Given the description of an element on the screen output the (x, y) to click on. 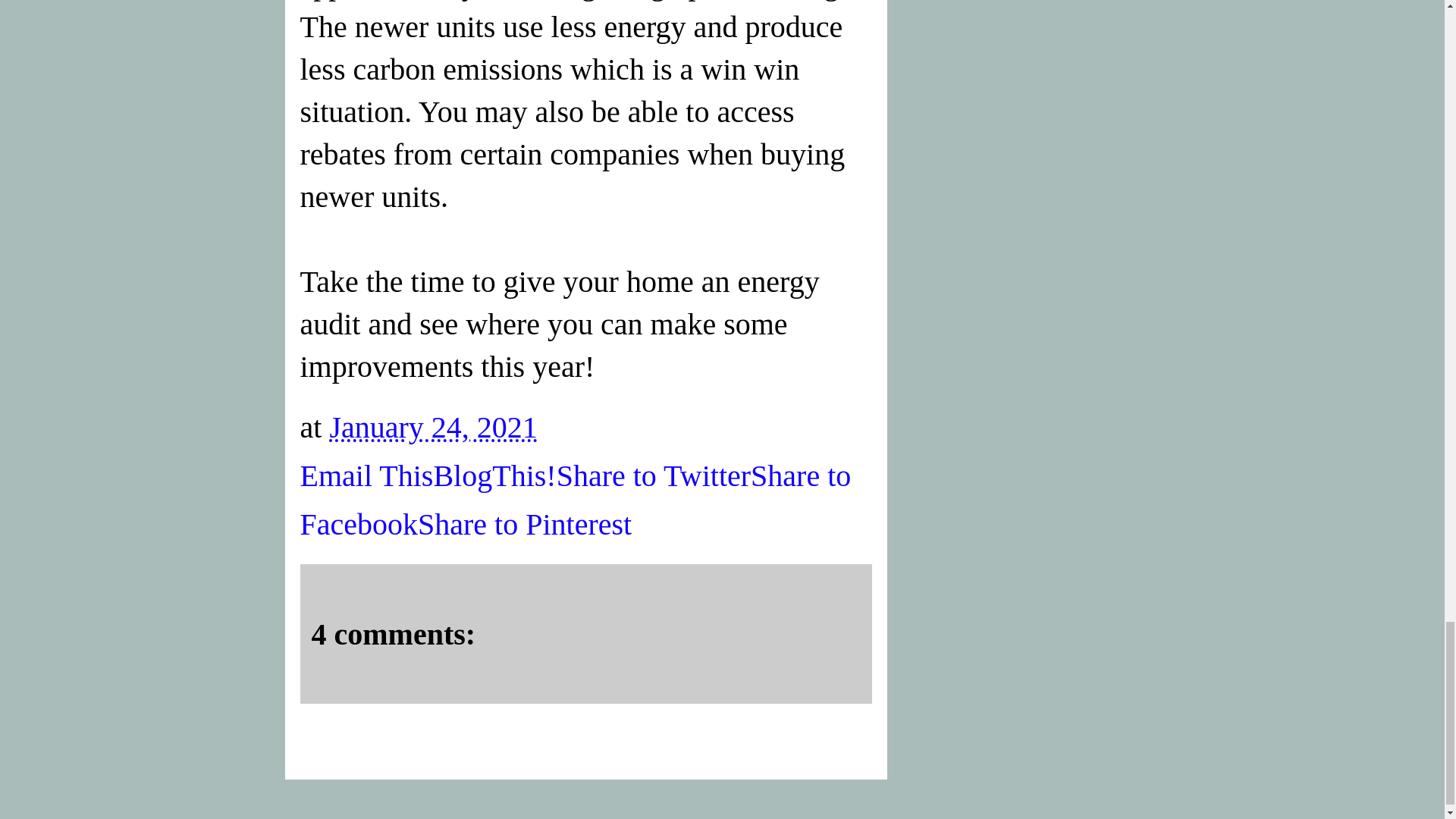
Email This (366, 475)
permanent link (433, 427)
Email This (366, 475)
Share to Twitter (653, 475)
Share to Pinterest (524, 523)
BlogThis! (494, 475)
BlogThis! (494, 475)
Share to Pinterest (524, 523)
Share to Facebook (575, 499)
January 24, 2021 (433, 427)
Share to Twitter (653, 475)
Share to Facebook (575, 499)
